Given the description of an element on the screen output the (x, y) to click on. 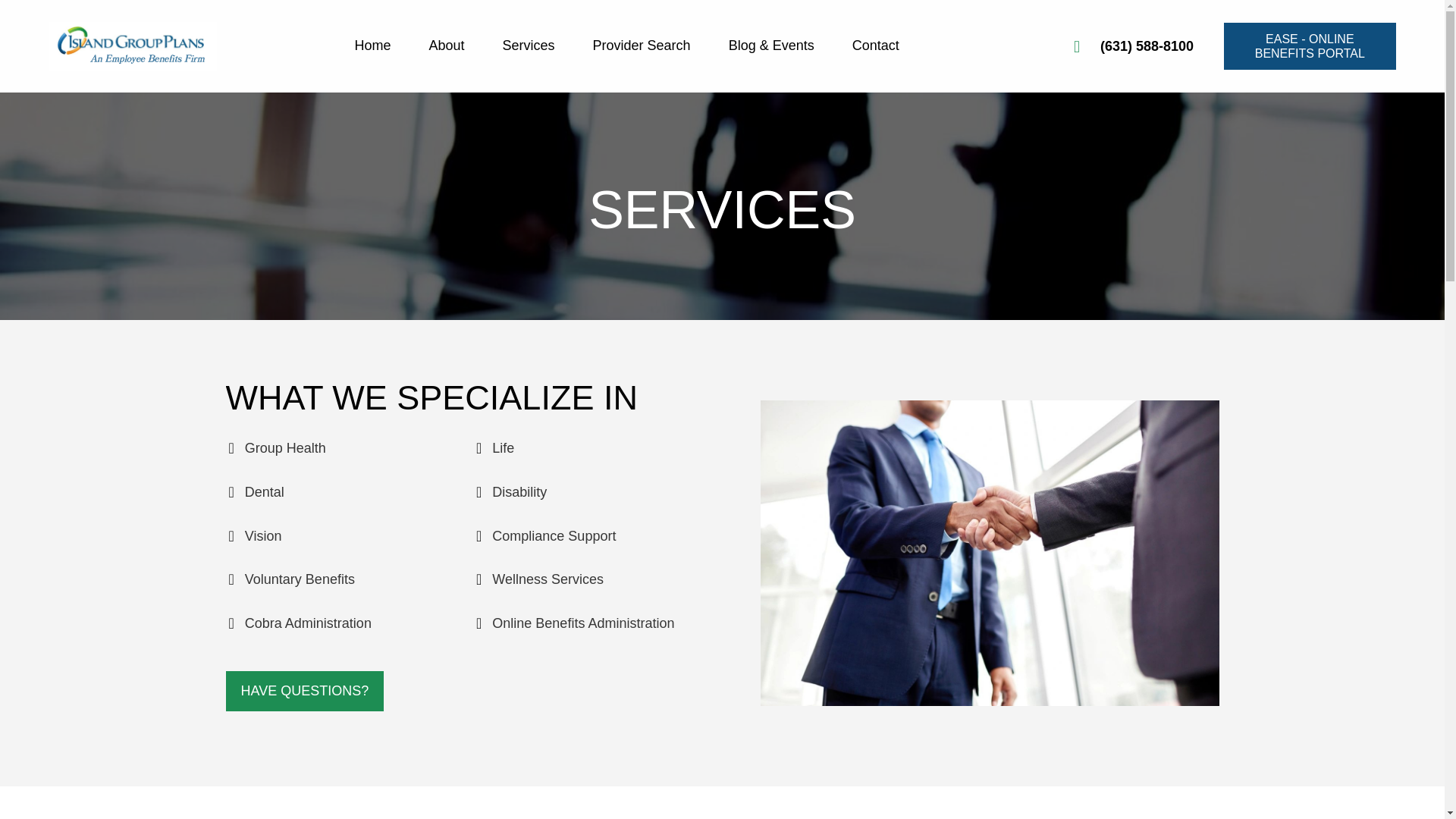
Contact (876, 44)
IGP new logo (131, 46)
Provider Search (643, 44)
Home (373, 44)
About (447, 44)
EASE - ONLINE BENEFITS PORTAL (1309, 45)
HAVE QUESTIONS? (304, 690)
Services (529, 44)
